Given the description of an element on the screen output the (x, y) to click on. 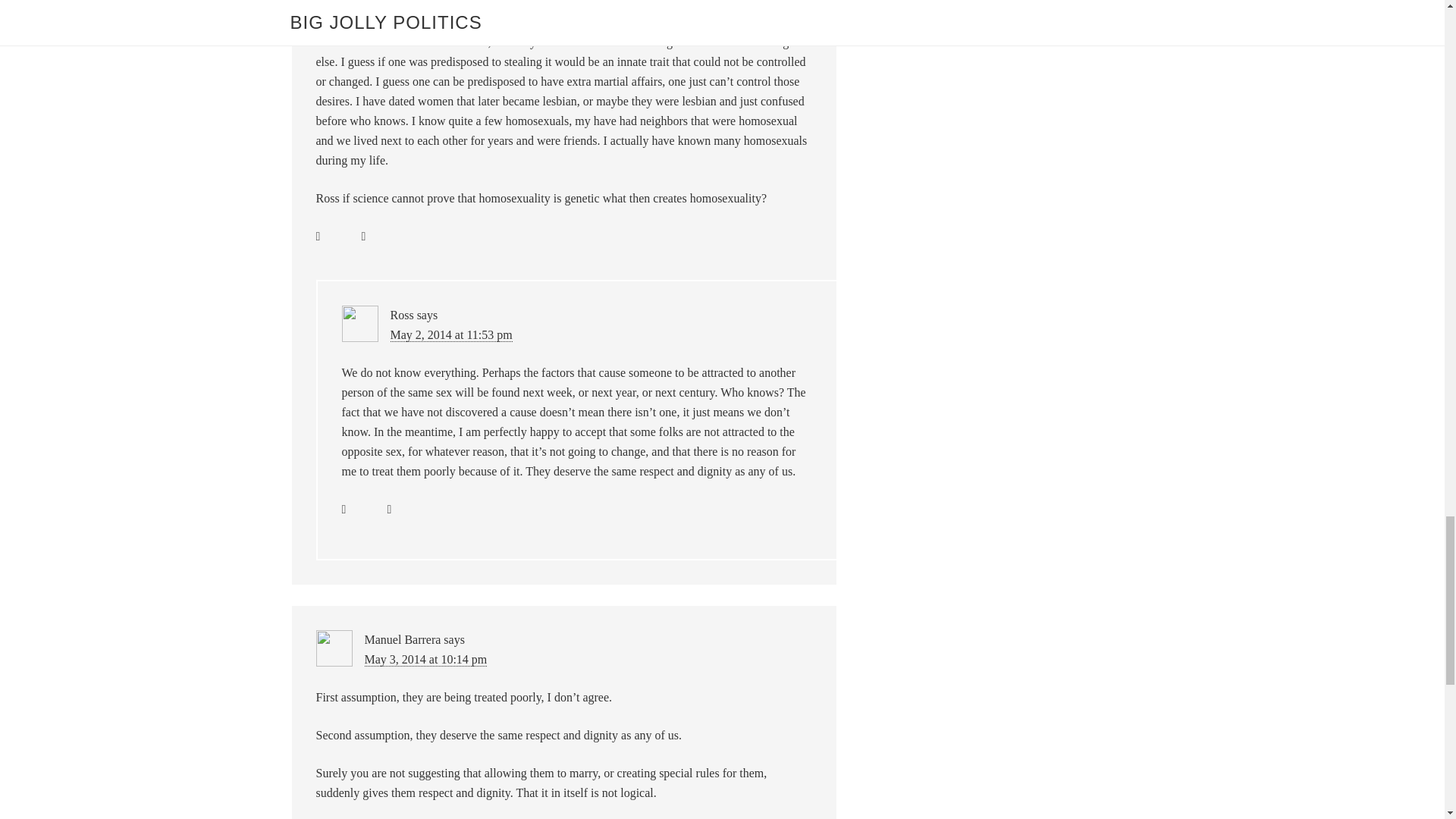
May 2, 2014 at 11:53 pm (451, 335)
May 3, 2014 at 10:14 pm (425, 659)
